Given the description of an element on the screen output the (x, y) to click on. 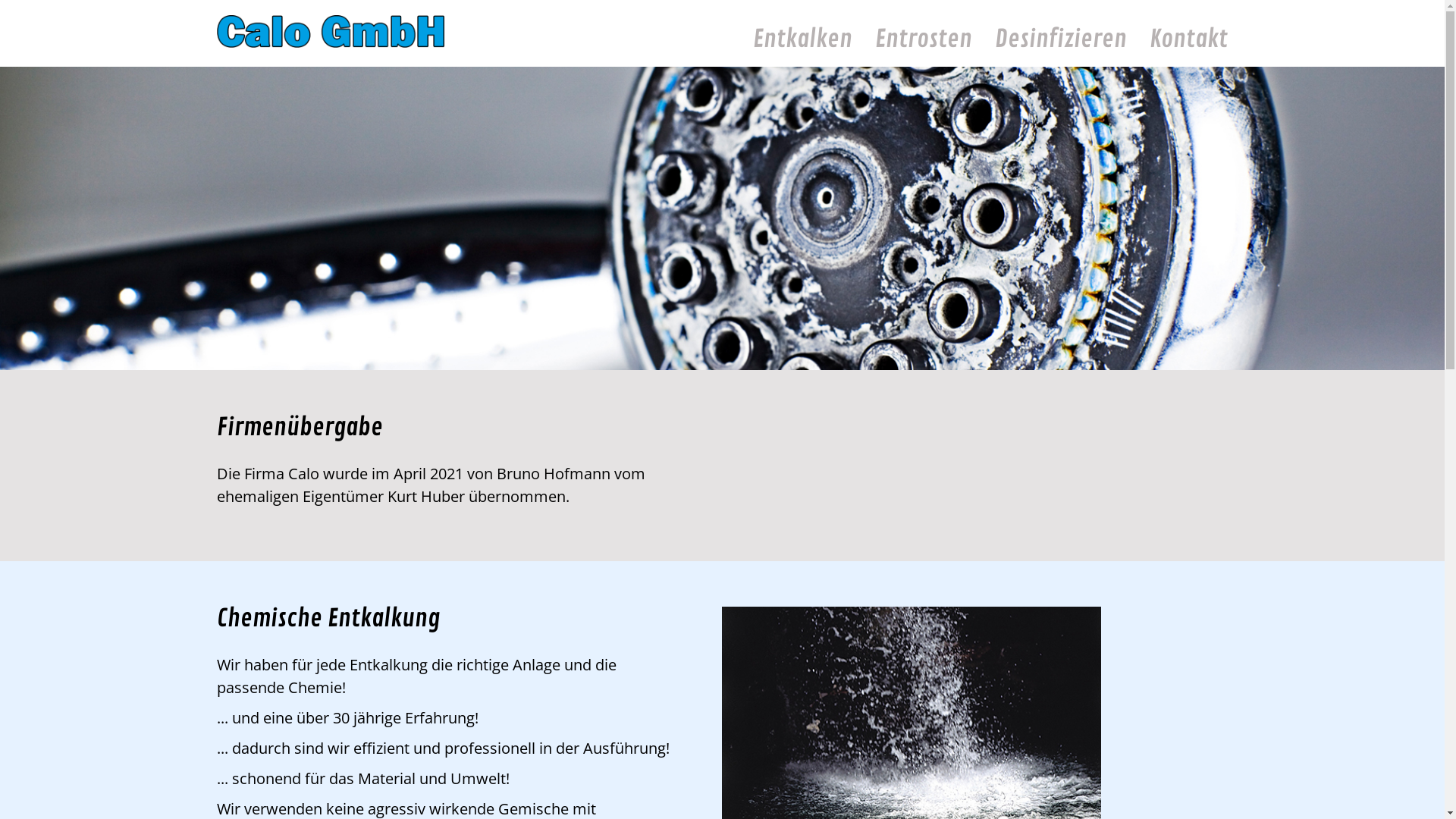
Entrosten Element type: text (923, 39)
Entkalken Element type: text (802, 39)
Desinfizieren Element type: text (1060, 39)
Kontakt Element type: text (1188, 39)
